Given the description of an element on the screen output the (x, y) to click on. 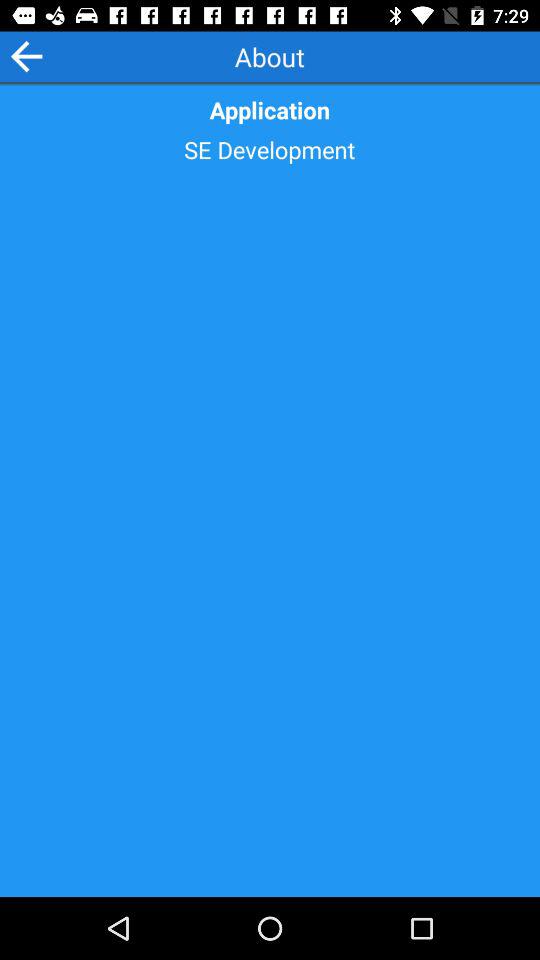
go to previous (26, 56)
